Given the description of an element on the screen output the (x, y) to click on. 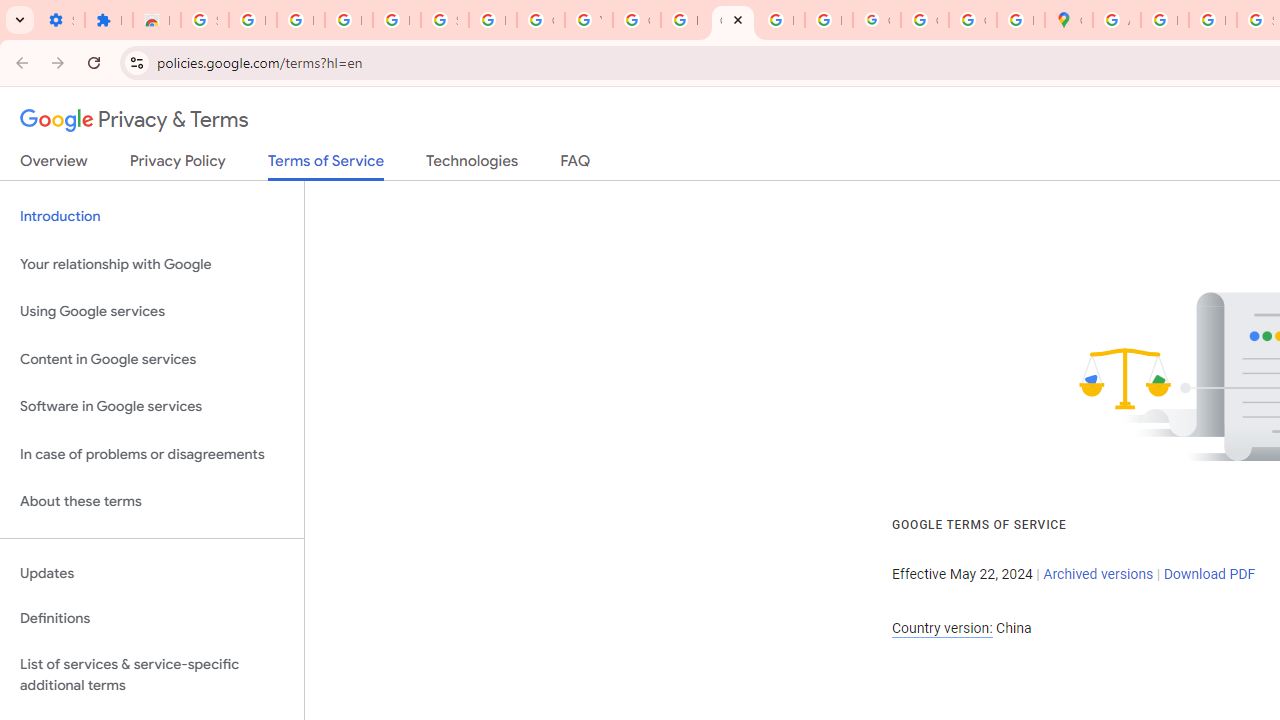
Country version: (942, 628)
Download PDF (1209, 574)
Reviews: Helix Fruit Jump Arcade Game (156, 20)
Software in Google services (152, 407)
